Given the description of an element on the screen output the (x, y) to click on. 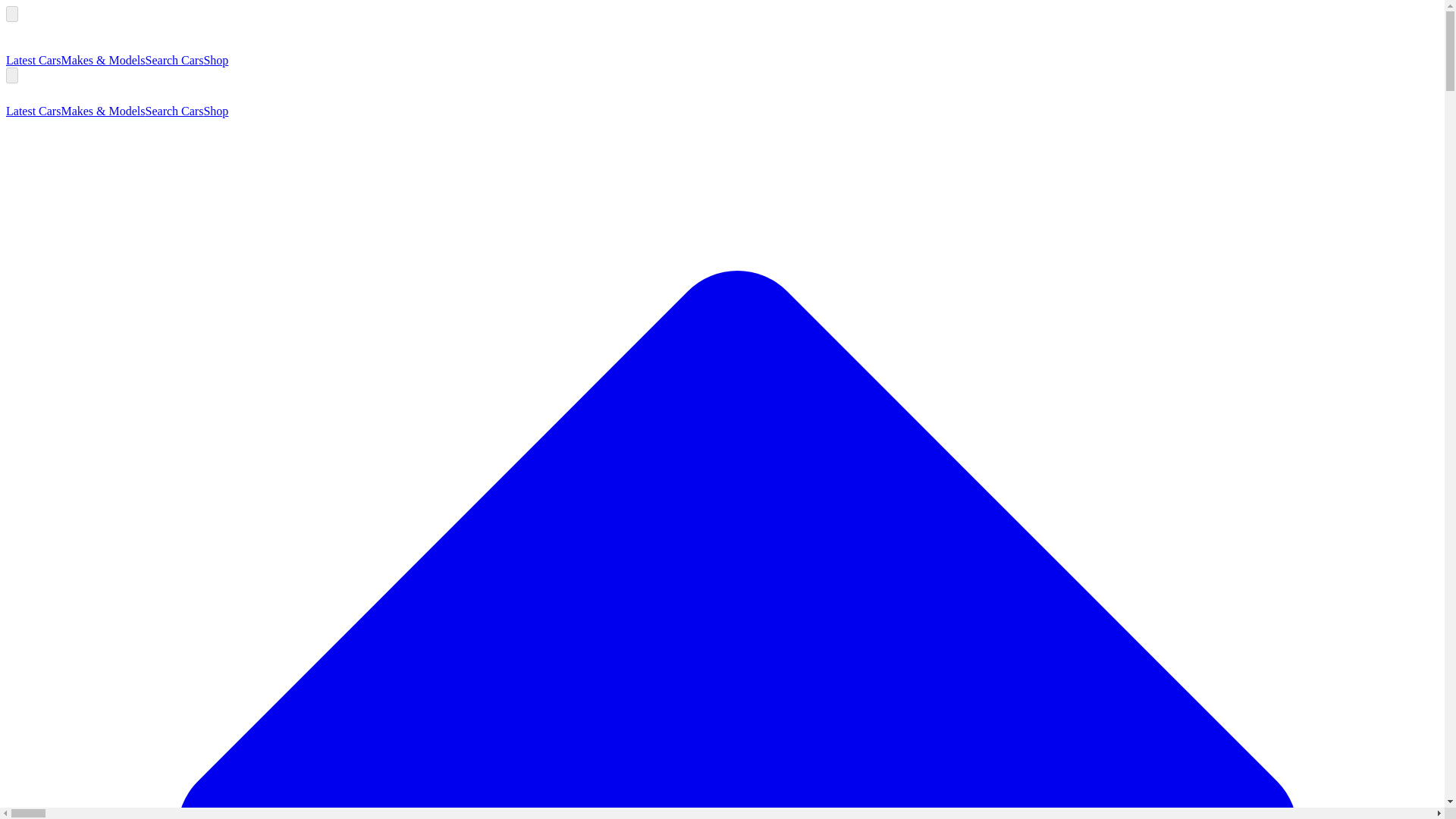
Shop (215, 60)
Latest Cars (33, 60)
Shop (215, 110)
Search Cars (174, 110)
Search Cars (174, 60)
Latest Cars (33, 110)
